Given the description of an element on the screen output the (x, y) to click on. 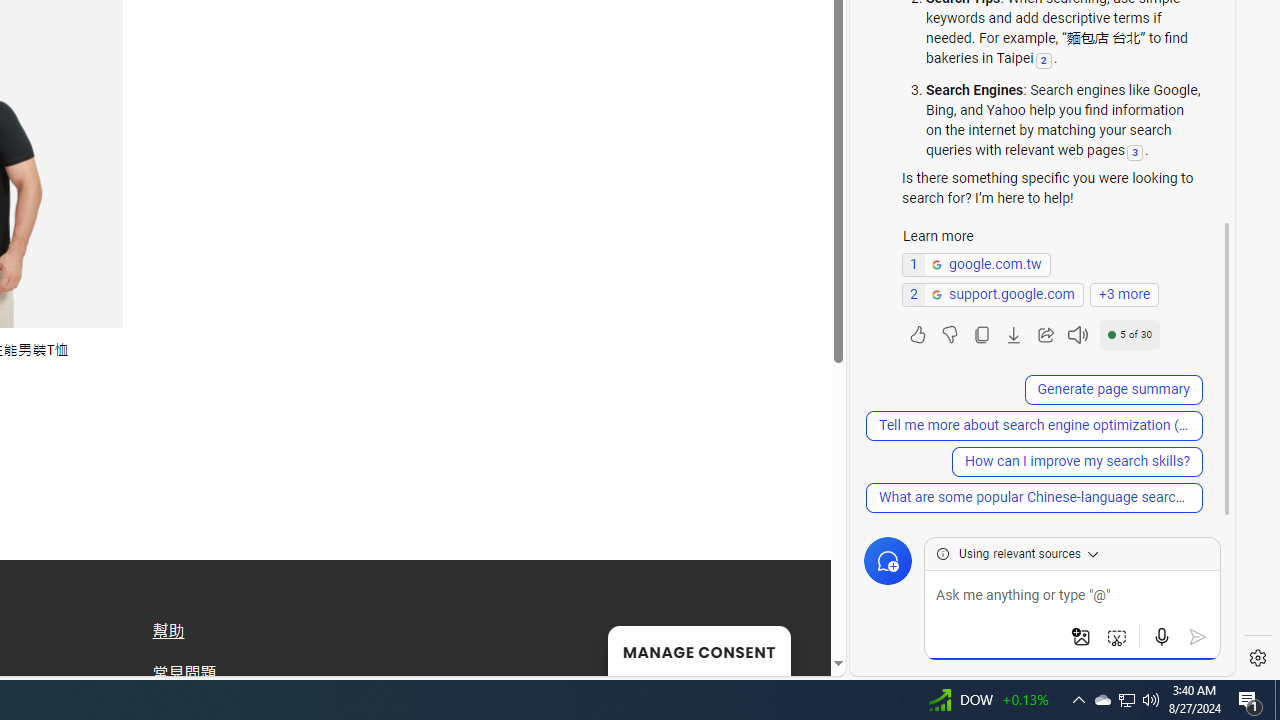
MANAGE CONSENT (698, 650)
Go to top (790, 647)
